Given the description of an element on the screen output the (x, y) to click on. 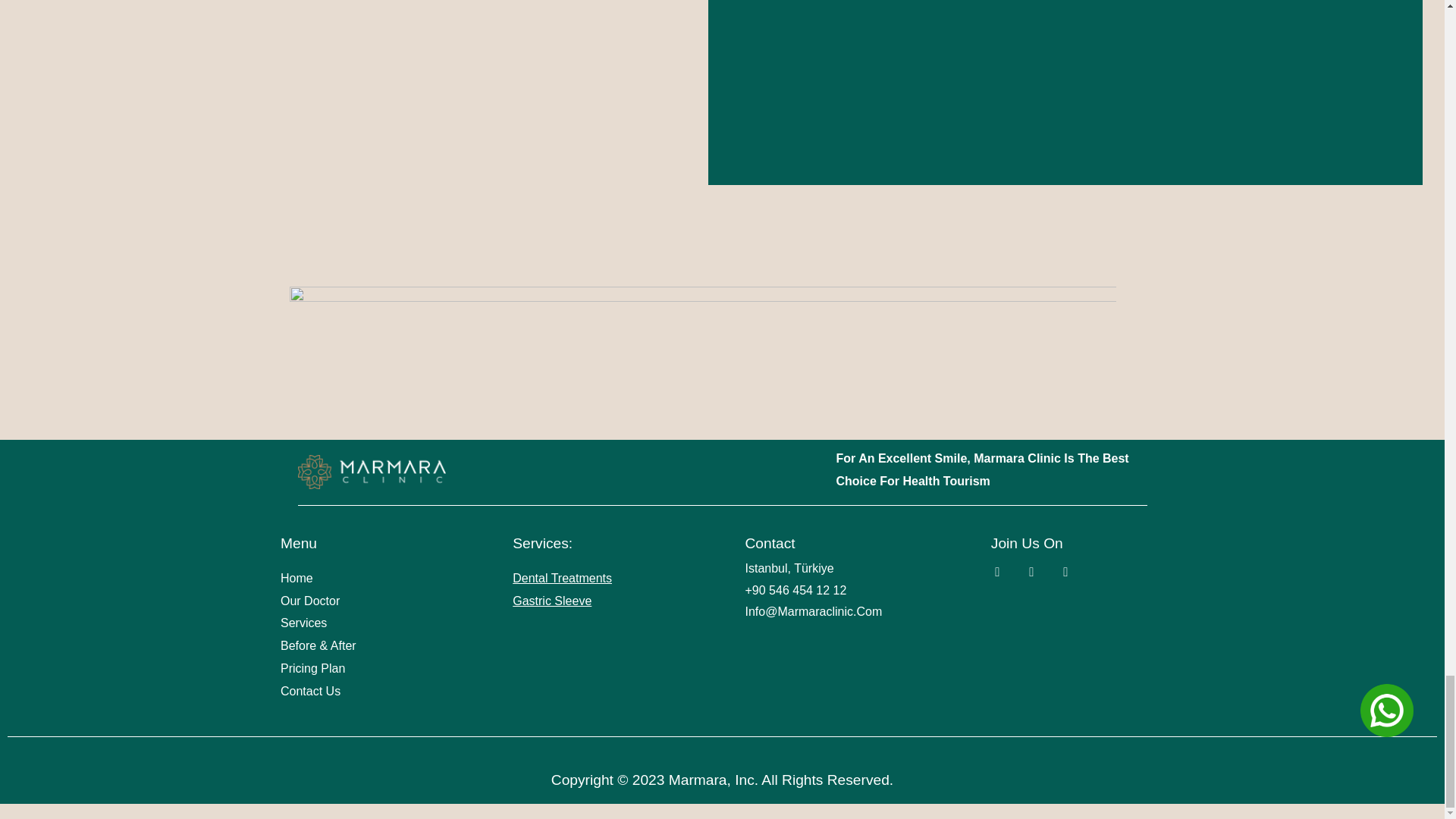
Home (374, 578)
Pricing Plan (374, 668)
Contact Us (374, 691)
Dental Treatments (561, 577)
Our Doctor (374, 600)
Services (374, 622)
